Given the description of an element on the screen output the (x, y) to click on. 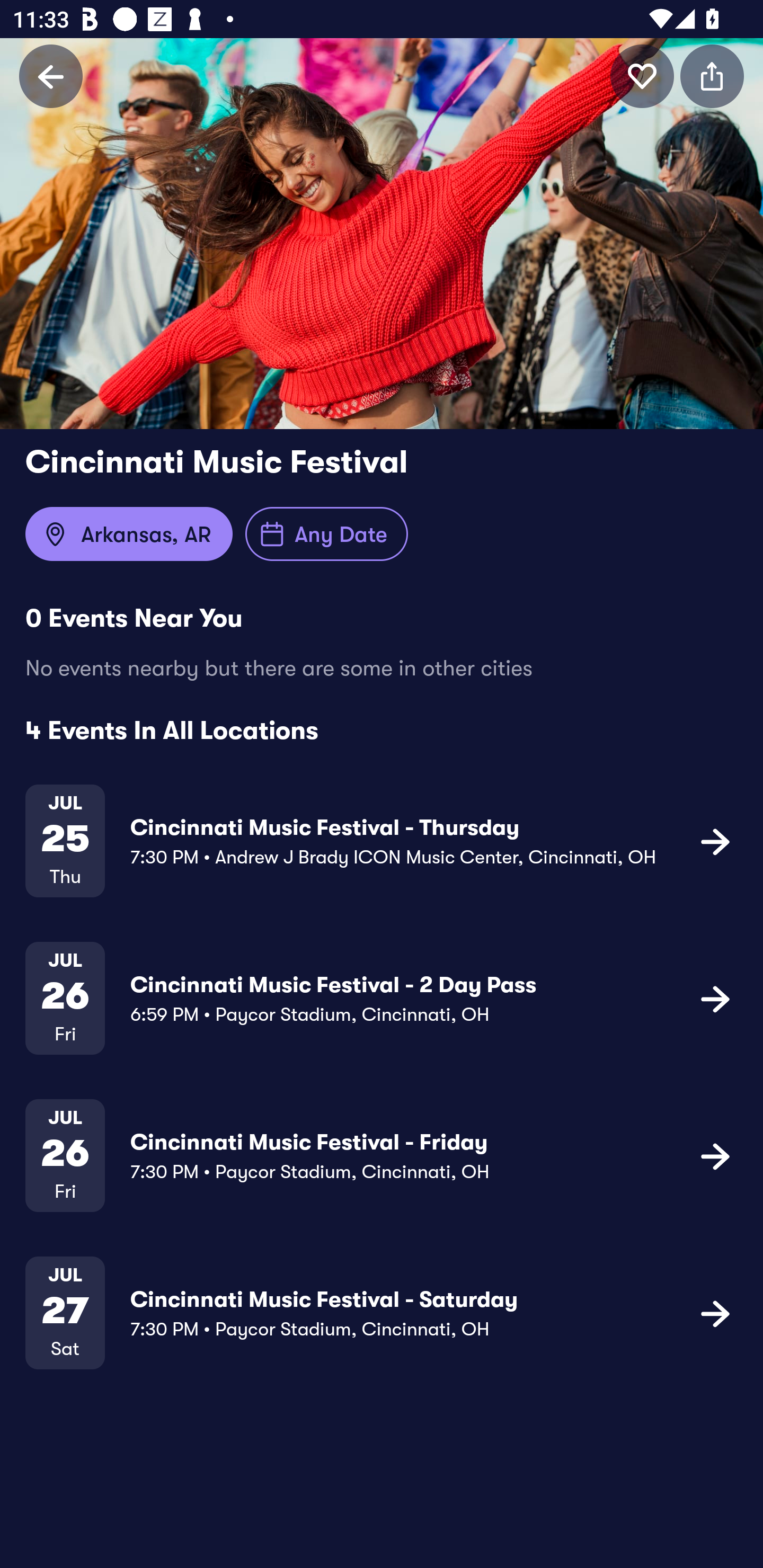
Back (50, 75)
icon button (641, 75)
icon button (711, 75)
Arkansas, AR (128, 533)
Any Date (326, 533)
icon button (714, 840)
icon button (714, 998)
icon button (714, 1155)
icon button (714, 1312)
